Given the description of an element on the screen output the (x, y) to click on. 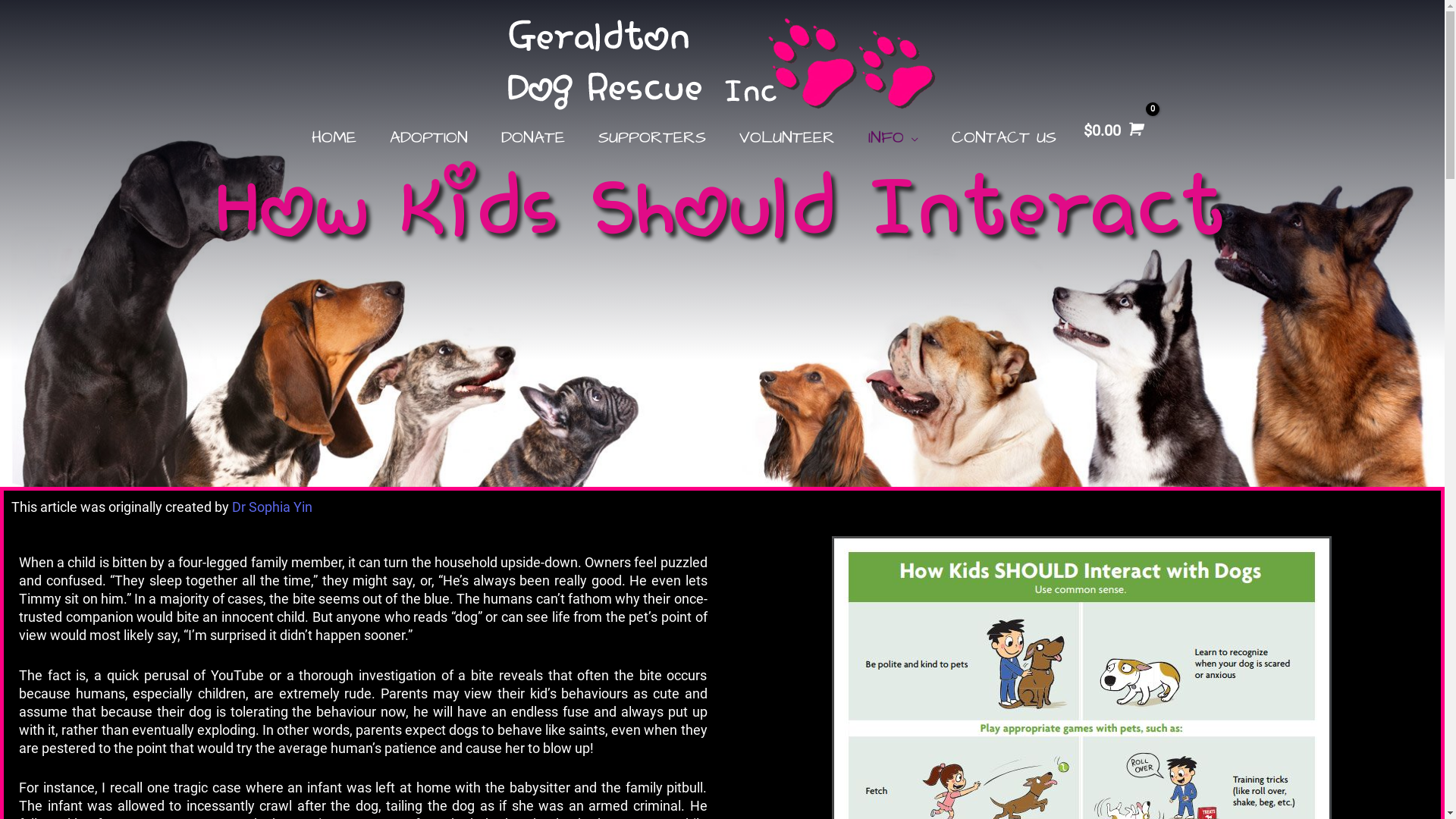
SUPPORTERS Element type: text (650, 137)
INFO Element type: text (892, 137)
DONATE Element type: text (531, 137)
Dr Sophia Yin Element type: text (272, 506)
HOME Element type: text (333, 137)
$0.00 Element type: text (1110, 129)
ADOPTION Element type: text (428, 137)
CONTACT US Element type: text (1003, 137)
VOLUNTEER Element type: text (785, 137)
